Given the description of an element on the screen output the (x, y) to click on. 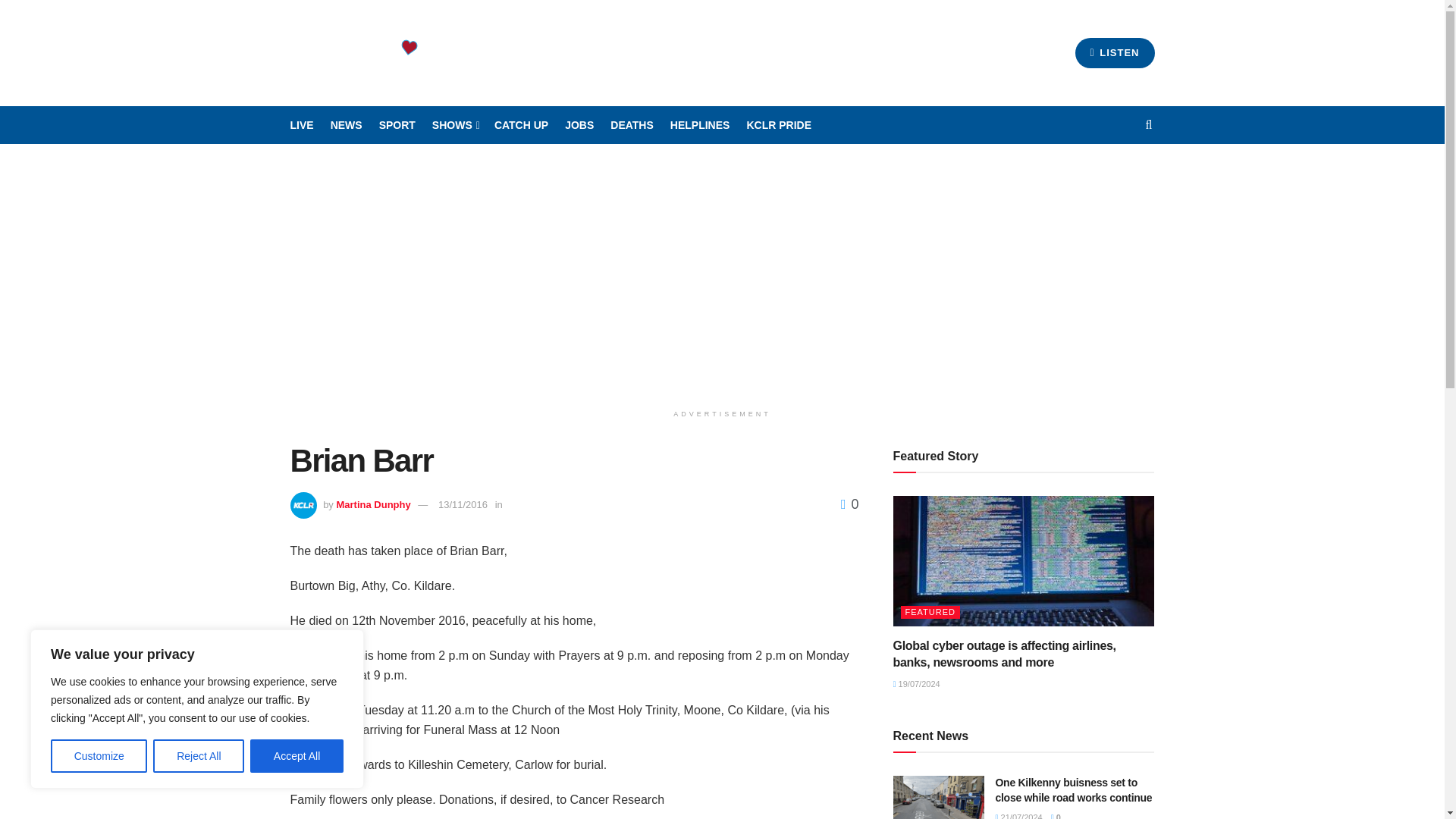
SPORT (396, 125)
Carlow and Kilkenny Death Notices (631, 125)
Listen back to KCLR shows (521, 125)
Customize (98, 756)
LISTEN (1114, 52)
Accept All (296, 756)
SHOWS (454, 125)
Reject All (198, 756)
KCLR Sport on Scoreline.ie (396, 125)
